Given the description of an element on the screen output the (x, y) to click on. 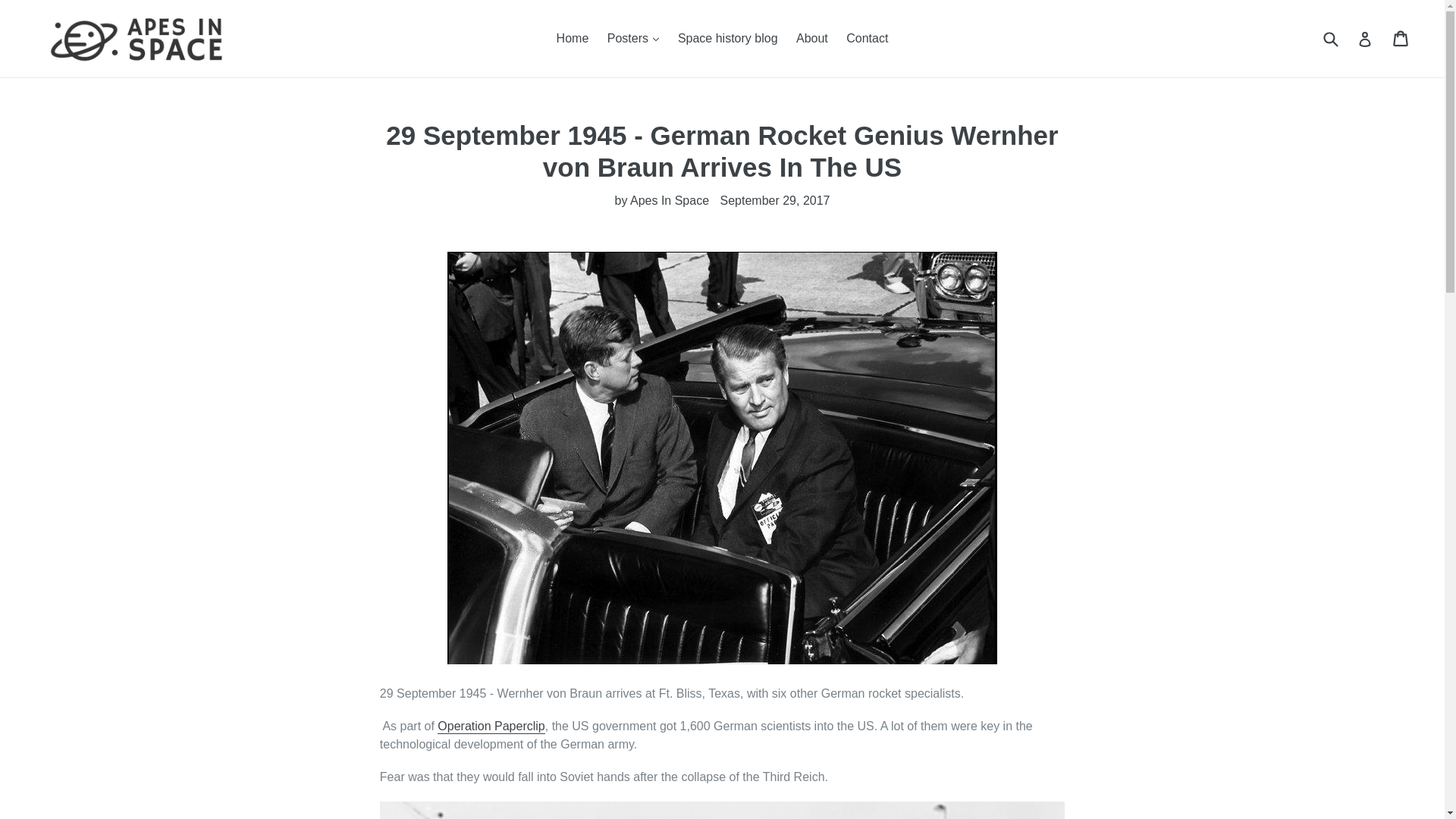
Operation Paperclip (491, 726)
Contact (866, 38)
About (812, 38)
Space history blog (727, 38)
Home (572, 38)
